Given the description of an element on the screen output the (x, y) to click on. 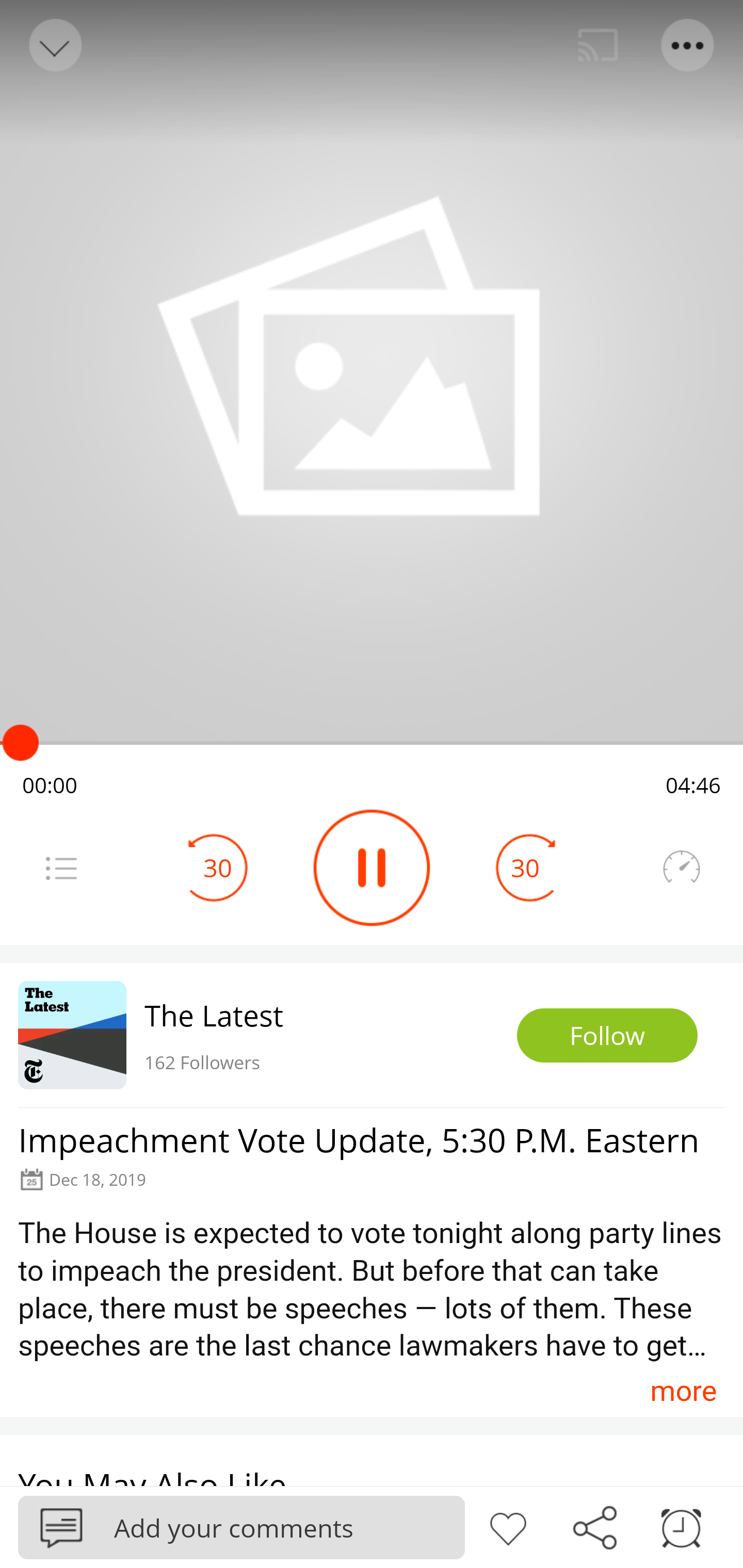
Back (53, 45)
Cast. Disconnected (597, 45)
Menu (688, 45)
Play (371, 867)
30 Seek Backward (217, 867)
30 Seek Forward (525, 867)
Menu (60, 867)
Speedometer (681, 867)
The Latest 162 Followers Follow (371, 1034)
Follow (607, 1035)
more (682, 1390)
Like (508, 1526)
Share (594, 1526)
Sleep timer (681, 1526)
Podbean Add your comments (241, 1526)
